Given the description of an element on the screen output the (x, y) to click on. 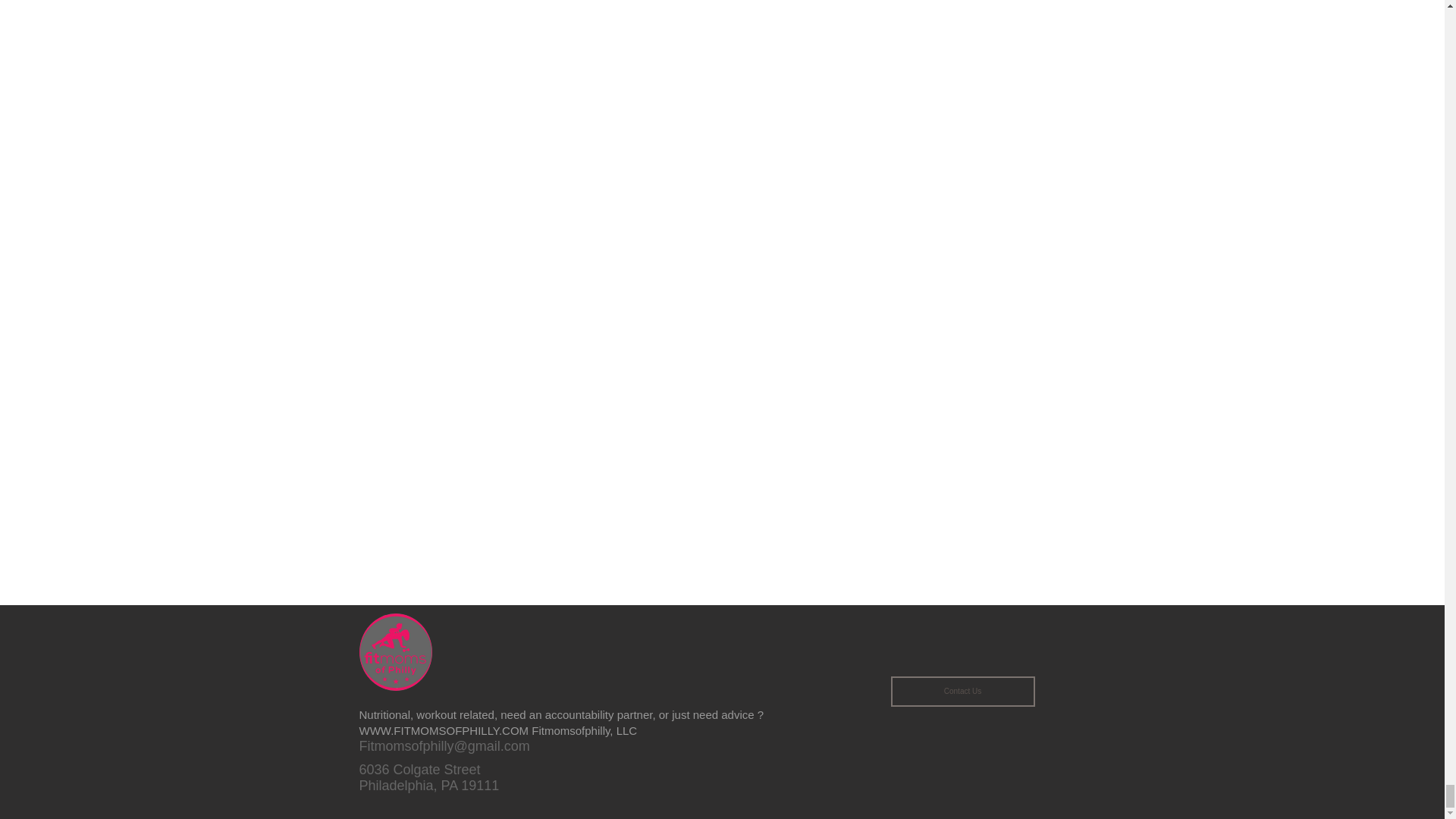
Contact Us (961, 691)
WWW.FITMOMSOFPHILLY.COM (444, 730)
